Given the description of an element on the screen output the (x, y) to click on. 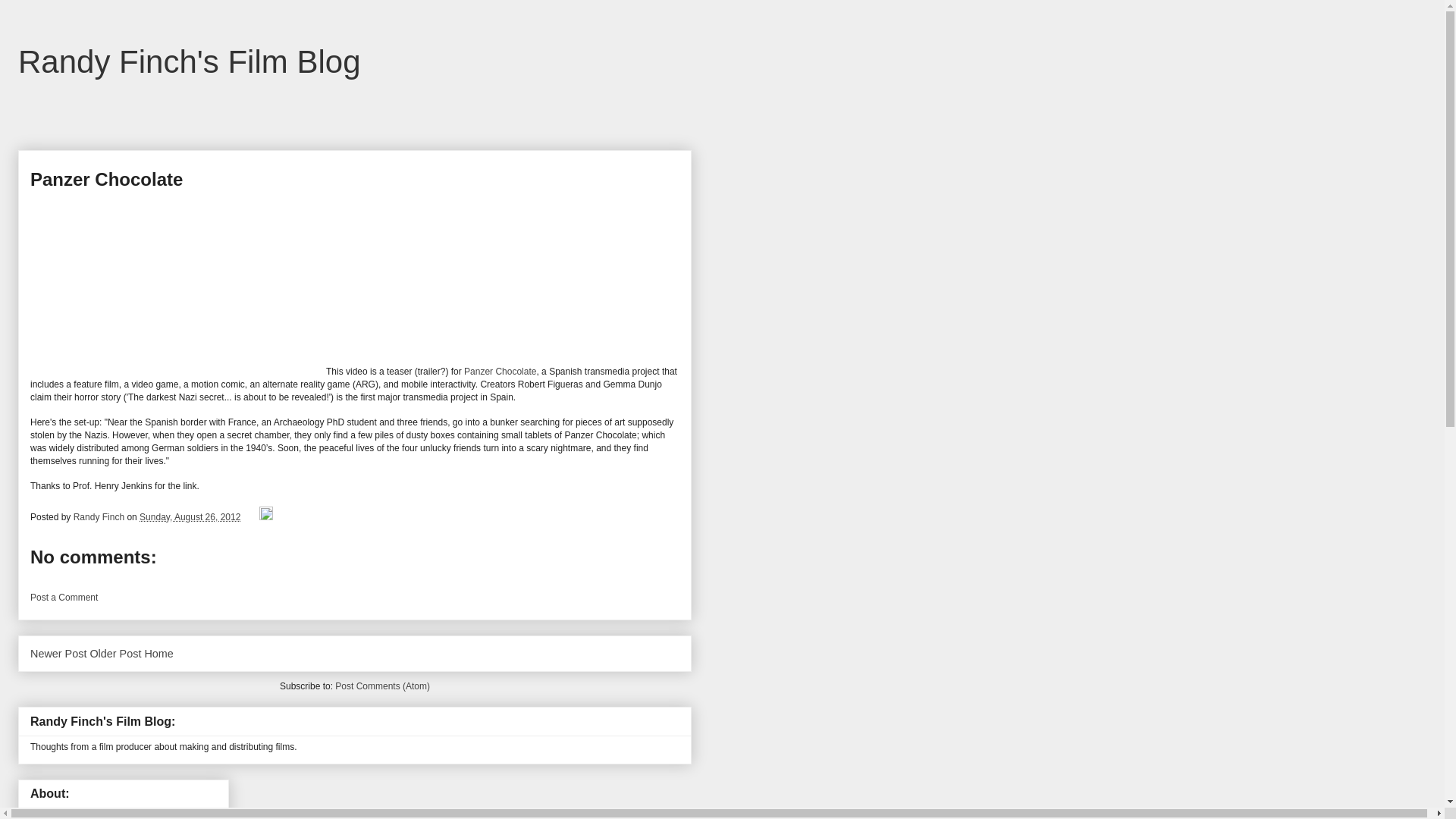
Email Post (251, 516)
Edit Post (266, 516)
Newer Post (57, 653)
Older Post (114, 653)
Sunday, August 26, 2012 (189, 516)
Randy Finch (64, 816)
Post a Comment (63, 597)
Home (158, 653)
Randy Finch (101, 516)
Newer Post (57, 653)
Randy Finch's Film Blog (189, 61)
Older Post (114, 653)
author profile (101, 516)
permanent link (189, 516)
Panzer Chocolate (499, 371)
